Given the description of an element on the screen output the (x, y) to click on. 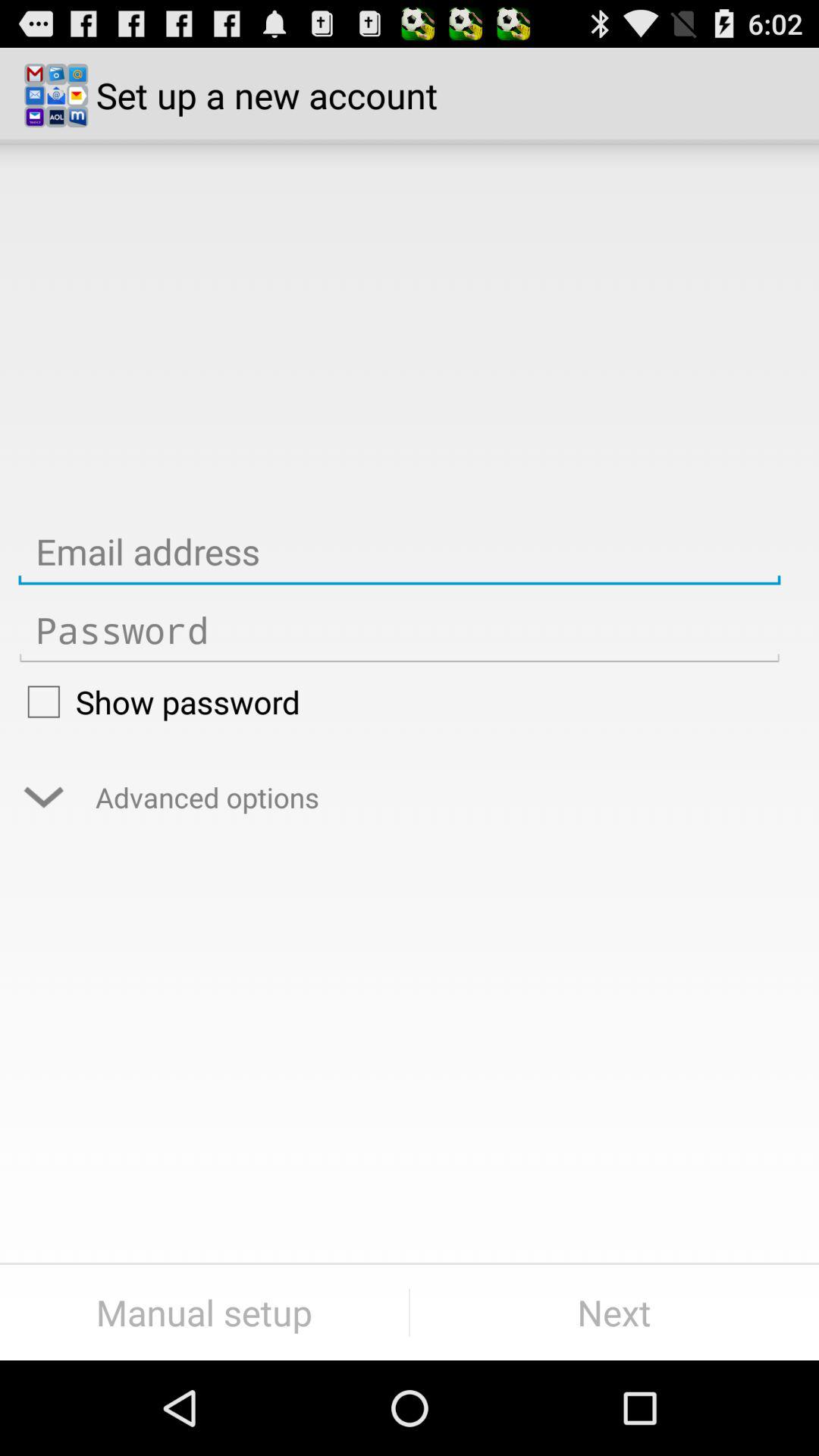
password textbox (399, 630)
